Given the description of an element on the screen output the (x, y) to click on. 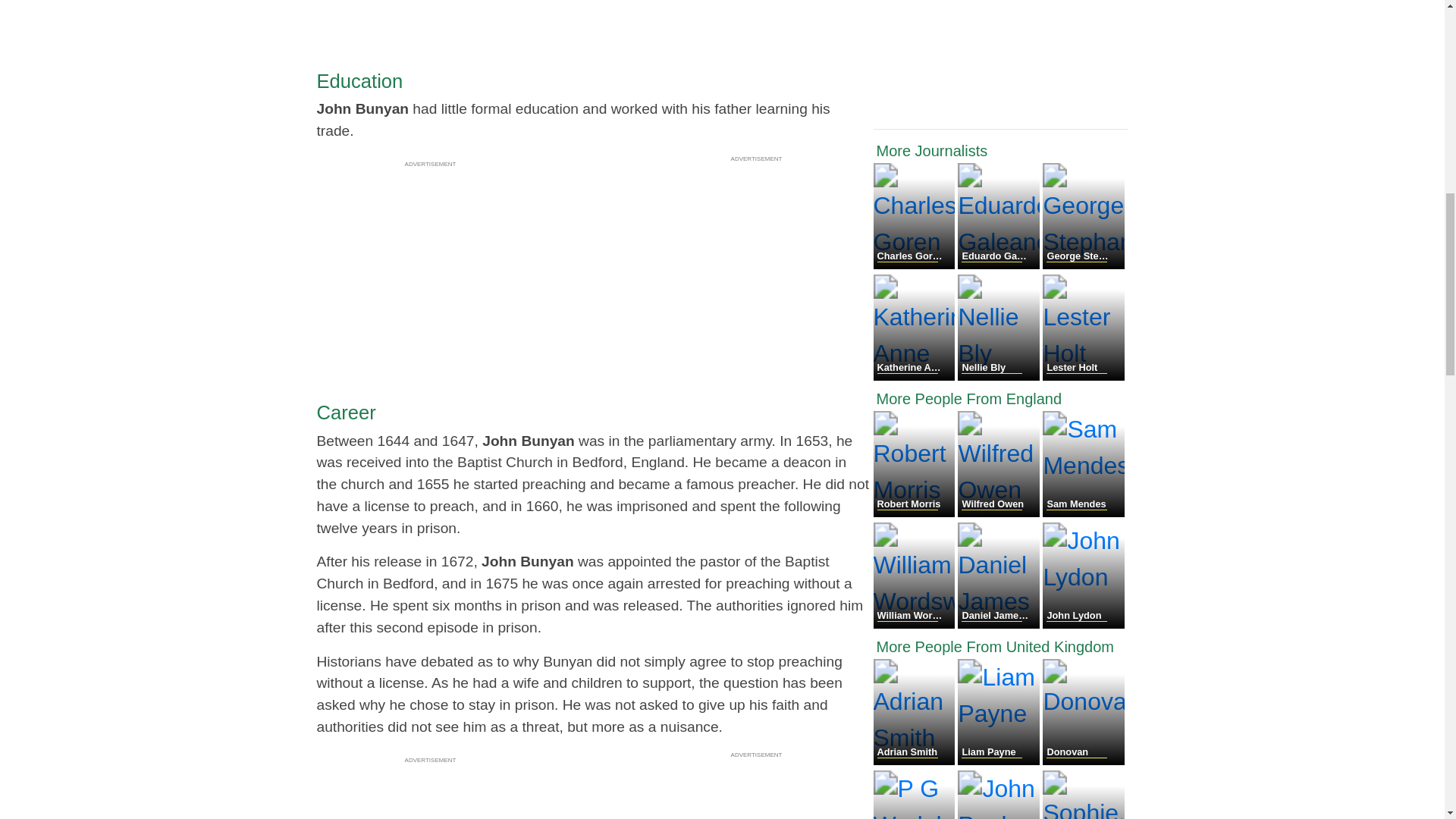
Sam Mendes (1083, 512)
Robert Morris (915, 512)
John Lydon (1083, 624)
Charles Goren (915, 264)
Adrian Smith (915, 760)
More Journalists (1000, 150)
Donovan (1083, 760)
Nellie Bly (1000, 376)
More People From United Kingdom (1000, 647)
Katherine Anne Porter (915, 376)
